Given the description of an element on the screen output the (x, y) to click on. 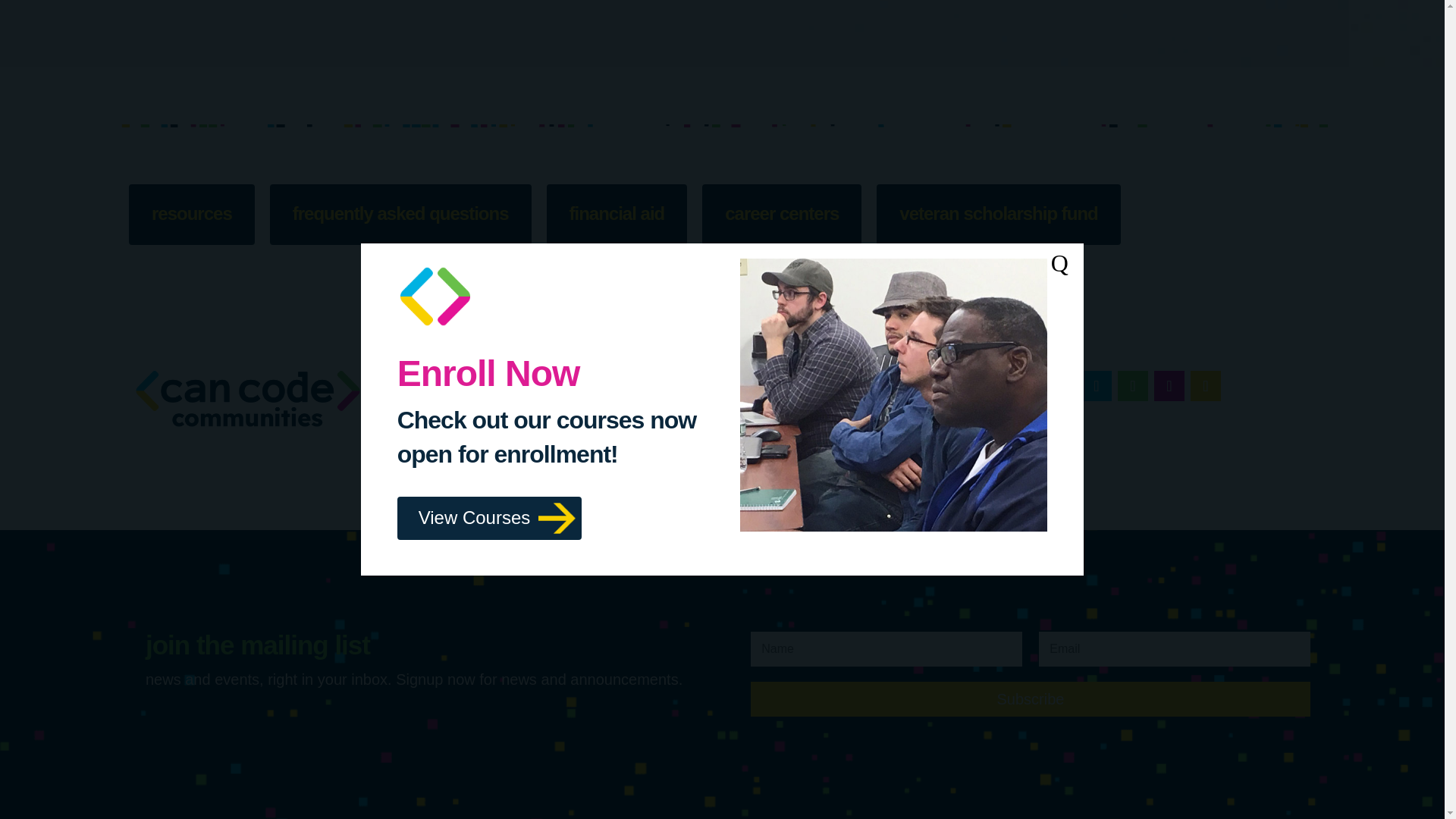
Follow on X (1169, 386)
Follow on Instagram (1206, 386)
Follow on LinkedIn (1133, 386)
Follow on Facebook (1096, 386)
